Given the description of an element on the screen output the (x, y) to click on. 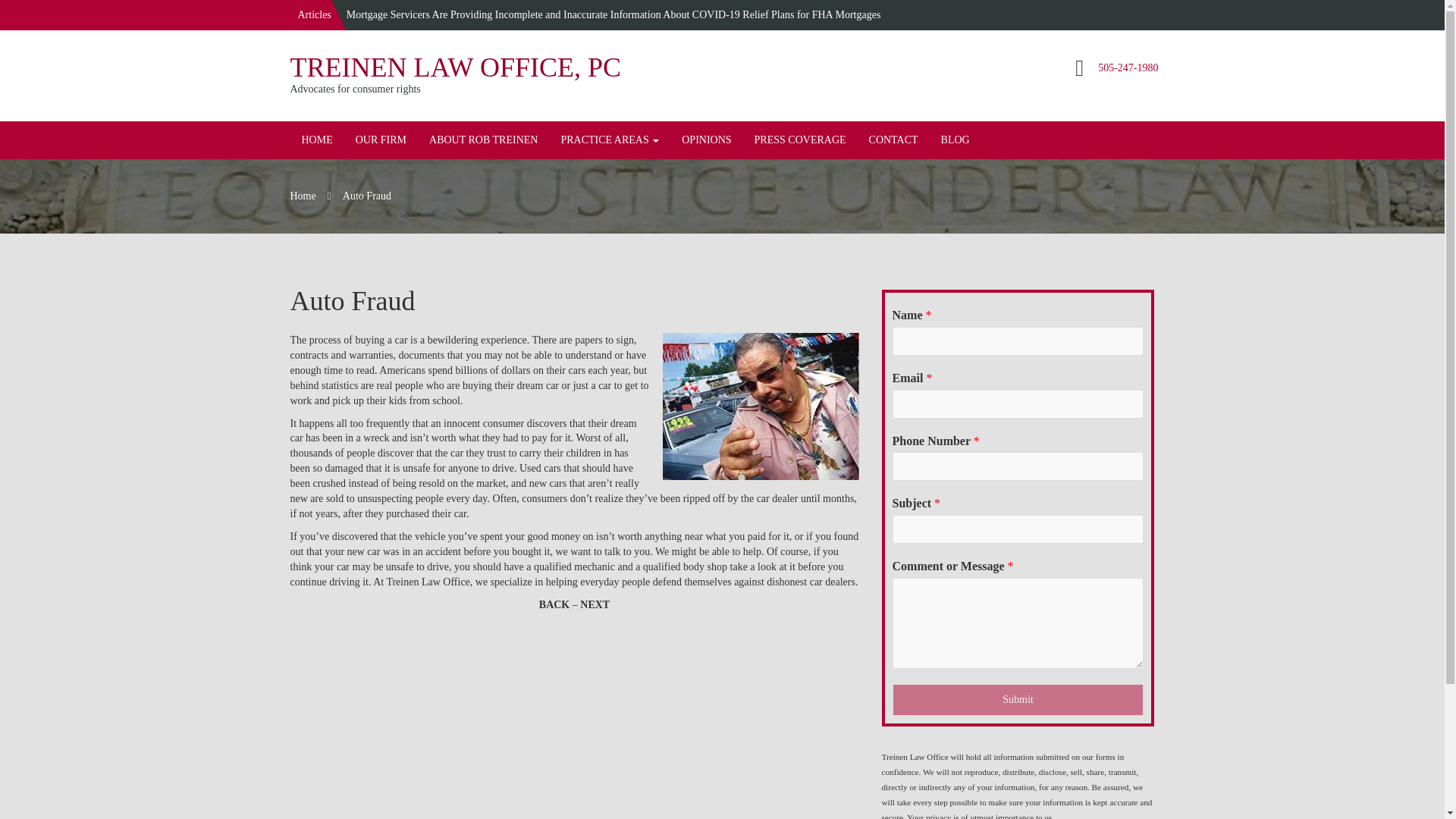
OUR FIRM (380, 139)
ABOUT ROB TREINEN (482, 139)
TREINEN LAW OFFICE, PC (454, 67)
Home (316, 139)
BACK (553, 604)
Our Firm (380, 139)
NEXT (594, 604)
Press Coverage (799, 139)
Blog (955, 139)
OPINIONS (705, 139)
